Given the description of an element on the screen output the (x, y) to click on. 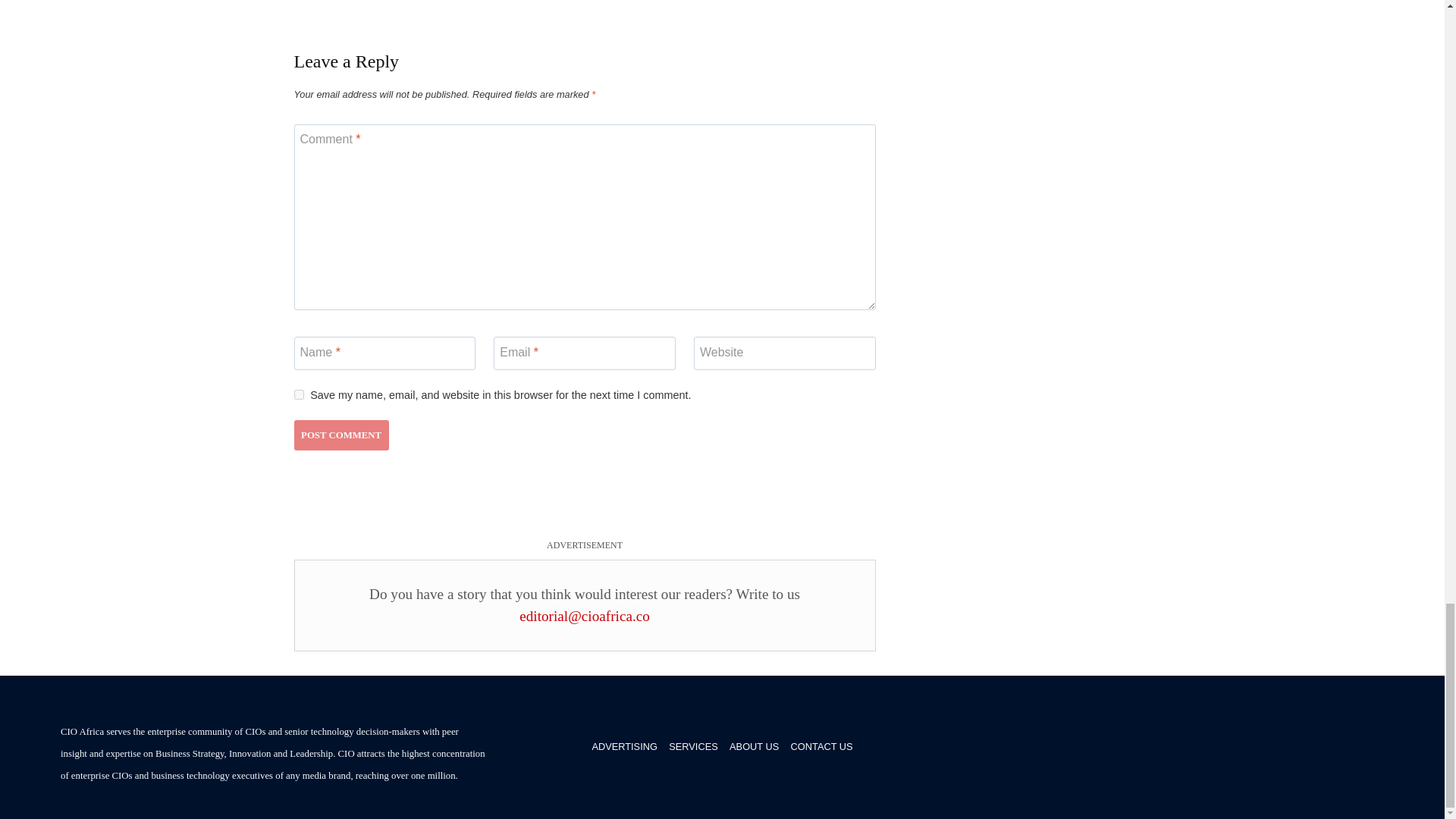
Post Comment (341, 435)
Post Comment (341, 435)
yes (299, 394)
